Given the description of an element on the screen output the (x, y) to click on. 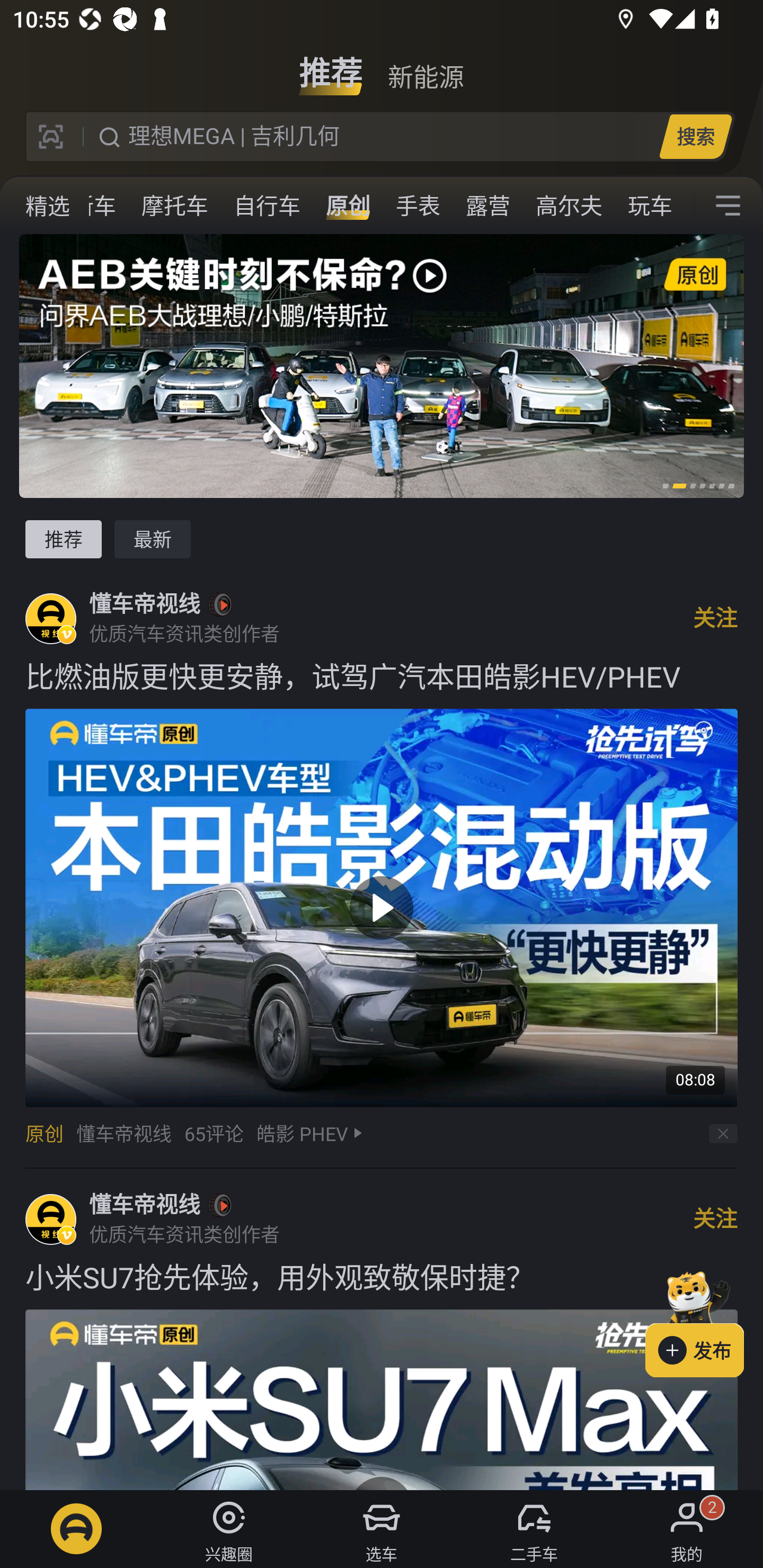
推荐 (330, 65)
新能源 (425, 65)
搜索 (695, 136)
直播 (29, 205)
新车 (93, 205)
摩托车 (174, 205)
自行车 (266, 205)
原创 (347, 205)
手表 (418, 205)
露营 (487, 205)
高尔夫 (568, 205)
玩车 (649, 205)
 (727, 205)
推荐 (63, 539)
最新 (152, 539)
懂车帝视线 (144, 604)
关注 (714, 618)
原创 (44, 1133)
皓影 PHEV (301, 1133)
懂车帝视线 优质汽车资讯类创作者 关注 小米SU7抢先体验，用外观致敬保时捷？  (381, 1328)
懂车帝视线 (144, 1204)
关注 (714, 1219)
发布 (704, 1320)
 兴趣圈 (228, 1528)
 选车 (381, 1528)
 二手车 (533, 1528)
 我的 (686, 1528)
